Given the description of an element on the screen output the (x, y) to click on. 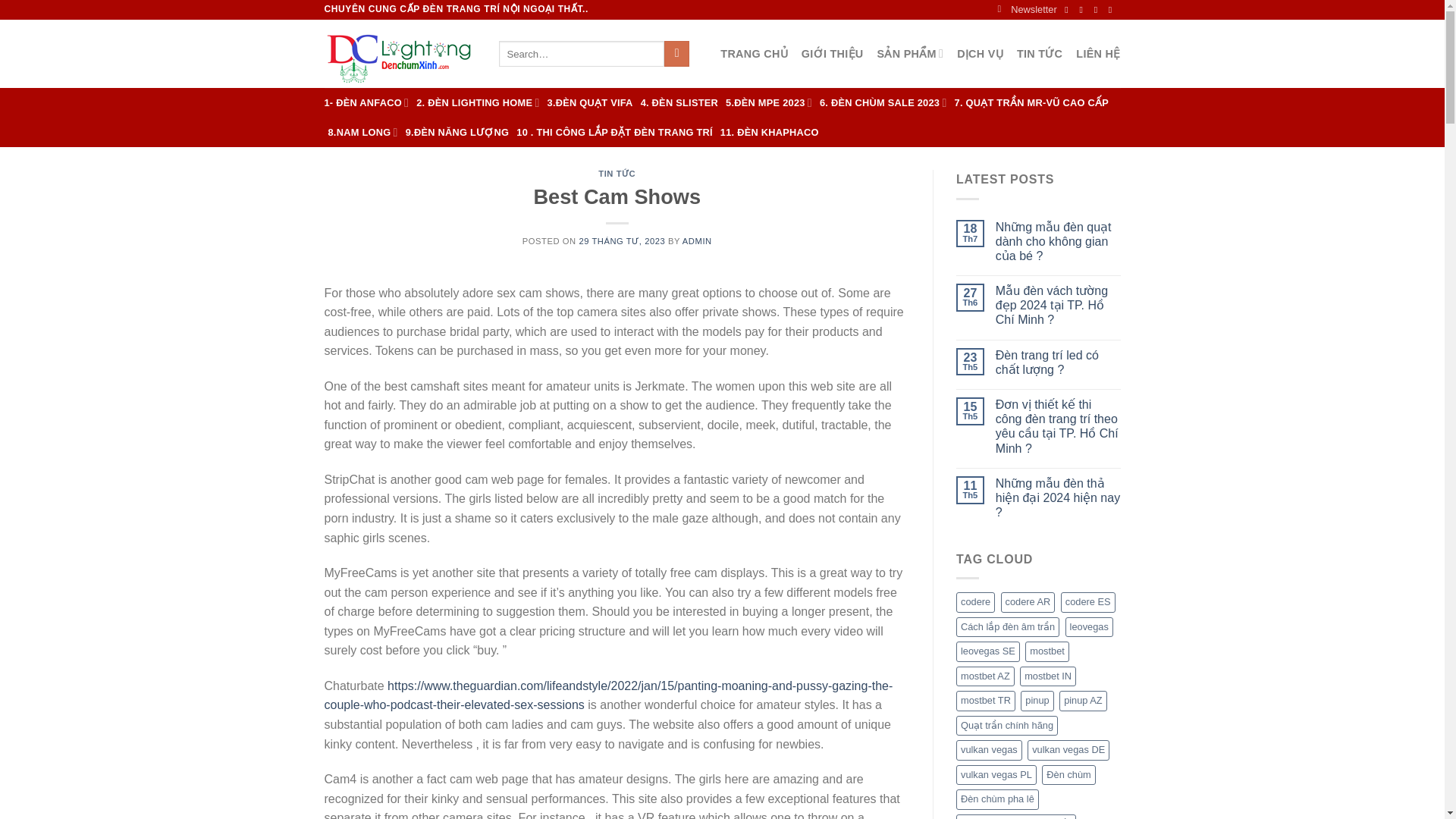
Newsletter (1027, 9)
Search (675, 53)
Sign up for Newsletter (1027, 9)
